Given the description of an element on the screen output the (x, y) to click on. 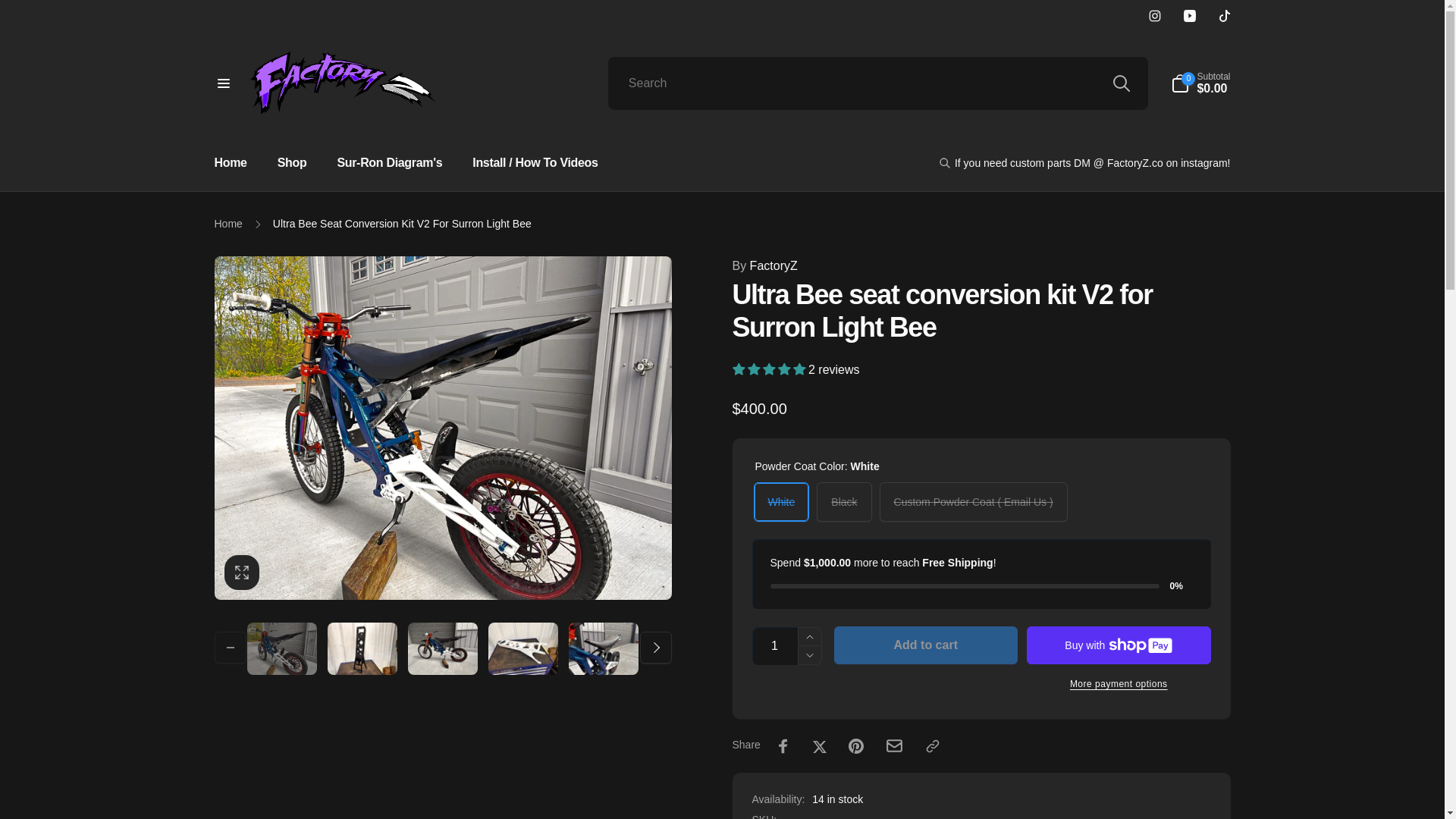
Home (227, 223)
Instagram (1154, 15)
YouTube (1188, 15)
Sur-Ron Diagram's (388, 163)
TikTok (1223, 15)
Shop (292, 163)
Home (231, 163)
Skip to content (24, 16)
1 (774, 646)
Skip to product information (231, 264)
